Given the description of an element on the screen output the (x, y) to click on. 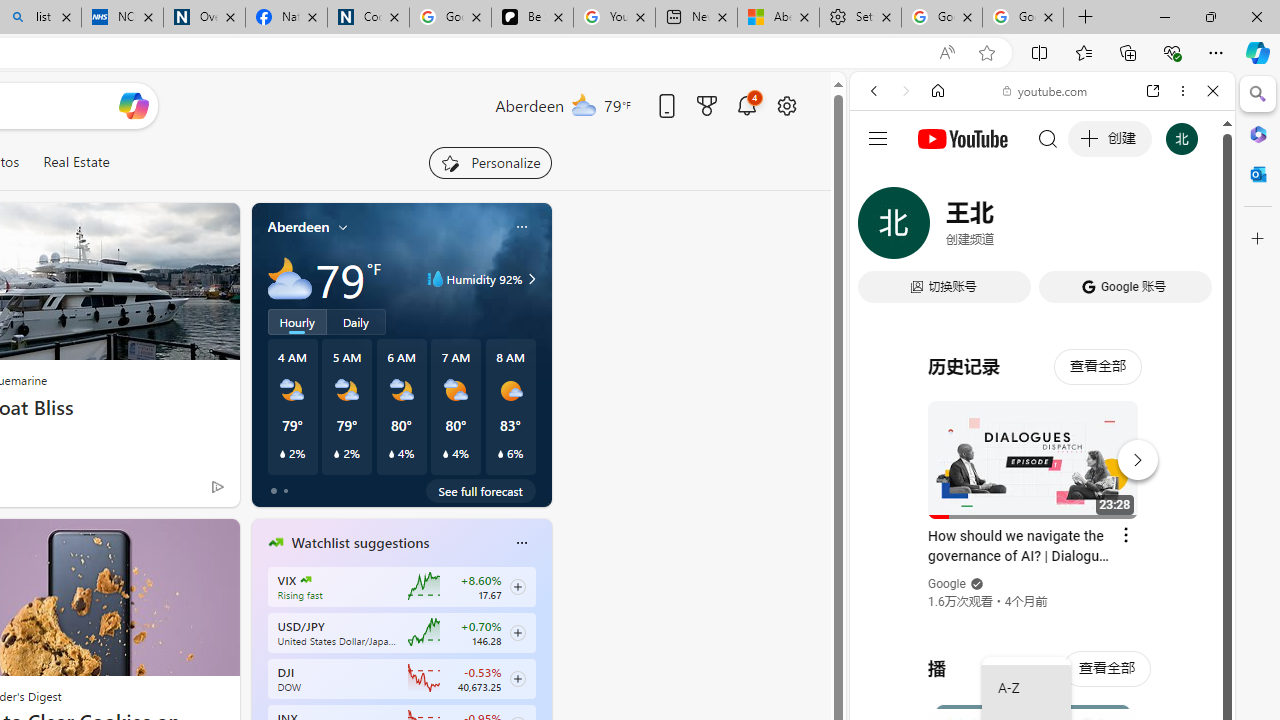
#you (1042, 445)
Daily (356, 321)
Hourly (296, 321)
Aberdeen, Hong Kong SAR hourly forecast | Microsoft Weather (778, 17)
You're following FOX News (175, 490)
Show More Music (1164, 546)
Real Estate (76, 161)
